Given the description of an element on the screen output the (x, y) to click on. 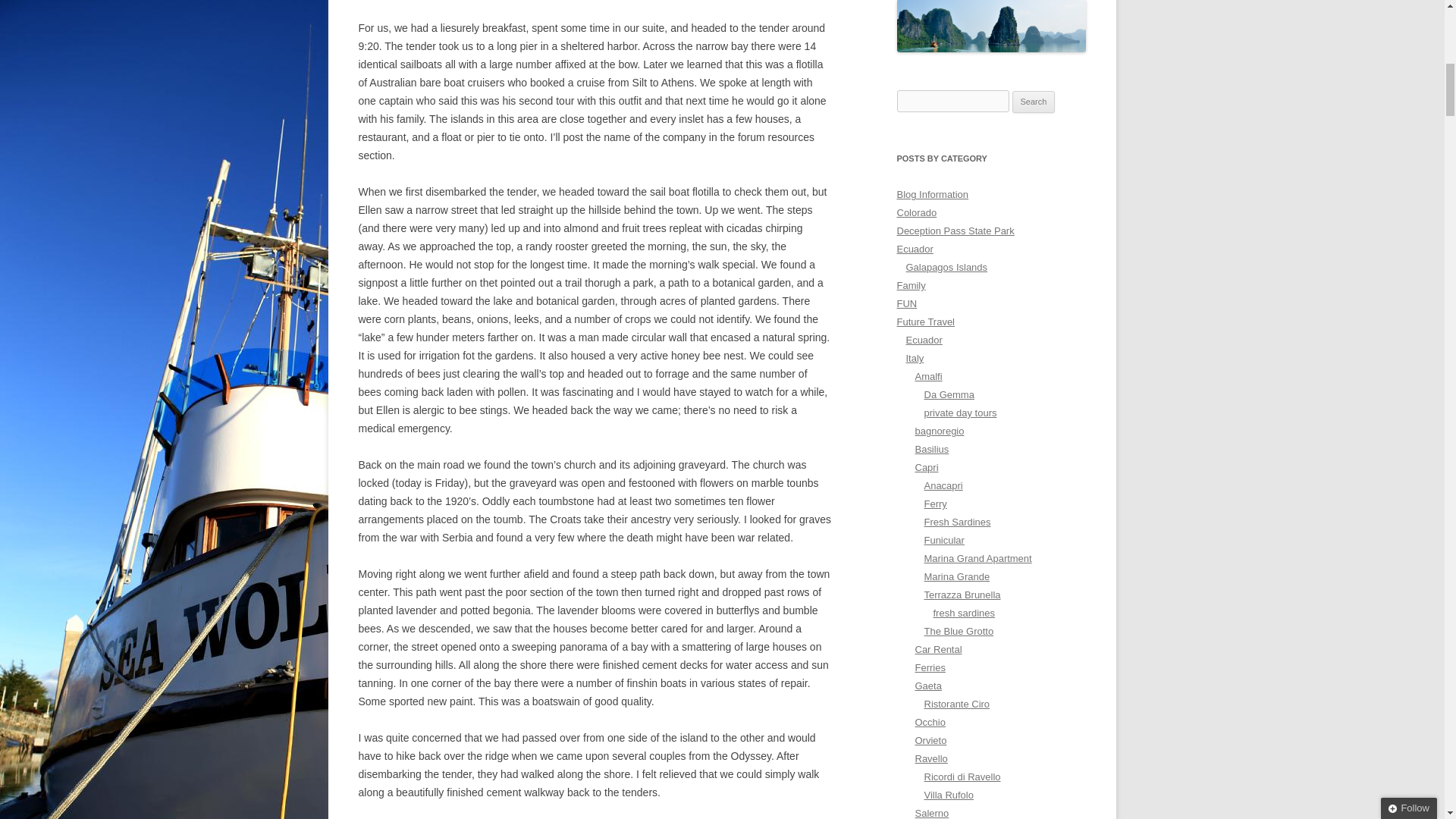
Search (1033, 101)
Sign me up! (1312, 156)
Email Address (1348, 128)
